Given the description of an element on the screen output the (x, y) to click on. 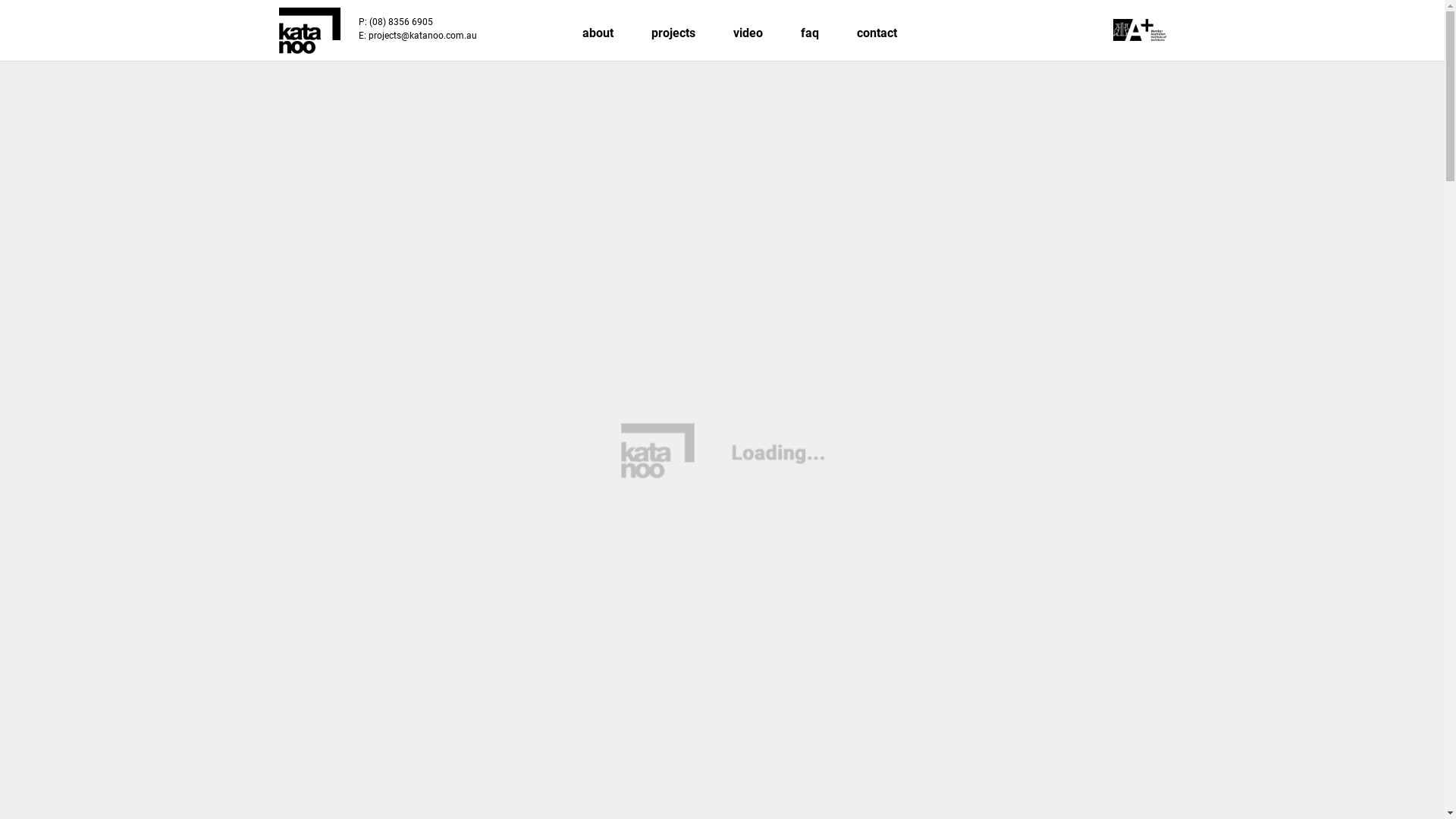
Katanoo Architects Element type: hover (309, 30)
projects@katanoo.com.au Element type: text (422, 35)
